Given the description of an element on the screen output the (x, y) to click on. 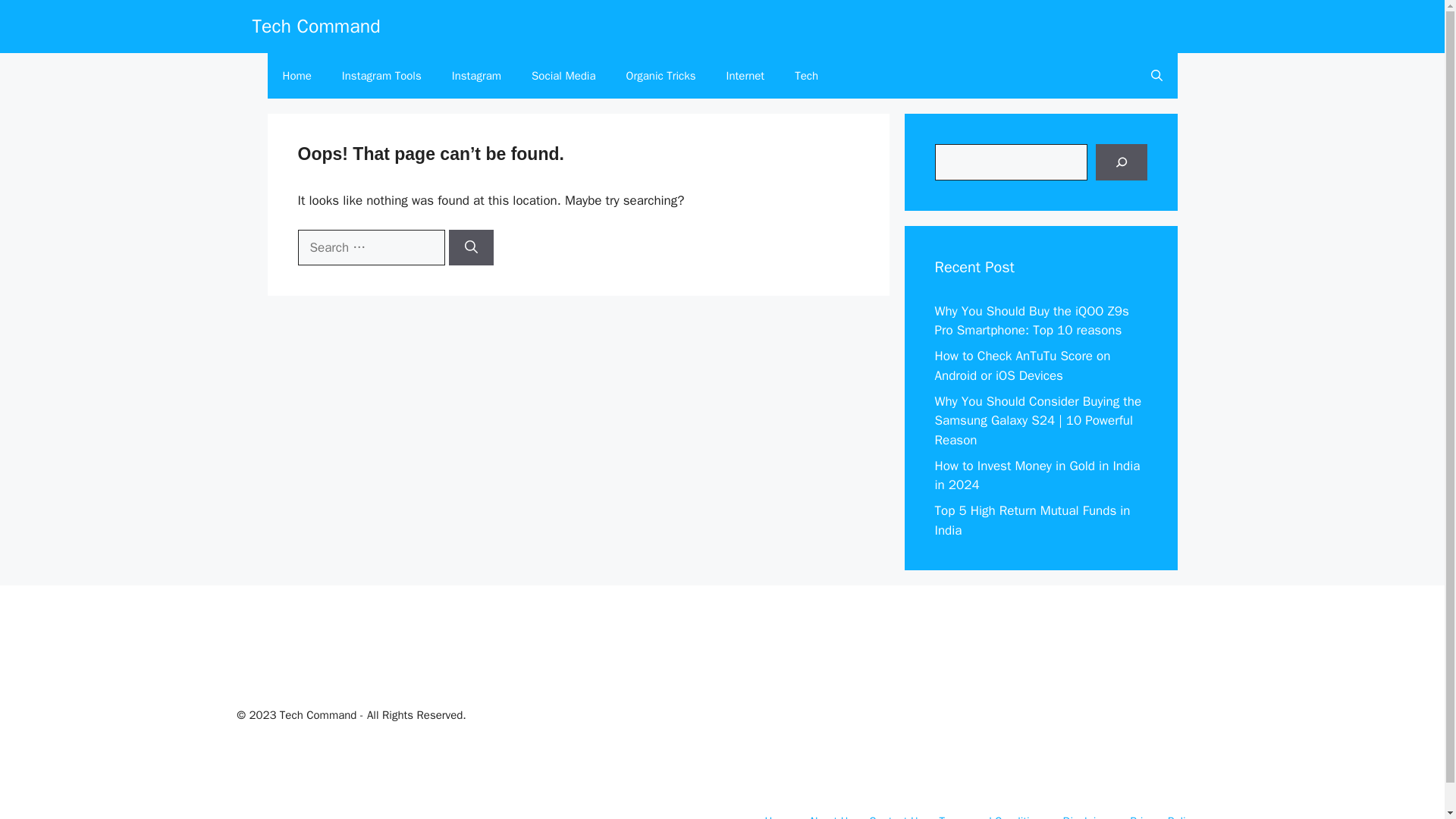
How to Check AnTuTu Score on Android or iOS Devices (1021, 366)
Search for: (370, 248)
How to Invest Money in Gold in India in 2024 (1037, 475)
Social Media (563, 75)
Terms and Conditions (992, 816)
Internet (745, 75)
Privacy Policy (1162, 816)
Advertisement (985, 706)
Instagram (476, 75)
Contact Us (896, 816)
